Given the description of an element on the screen output the (x, y) to click on. 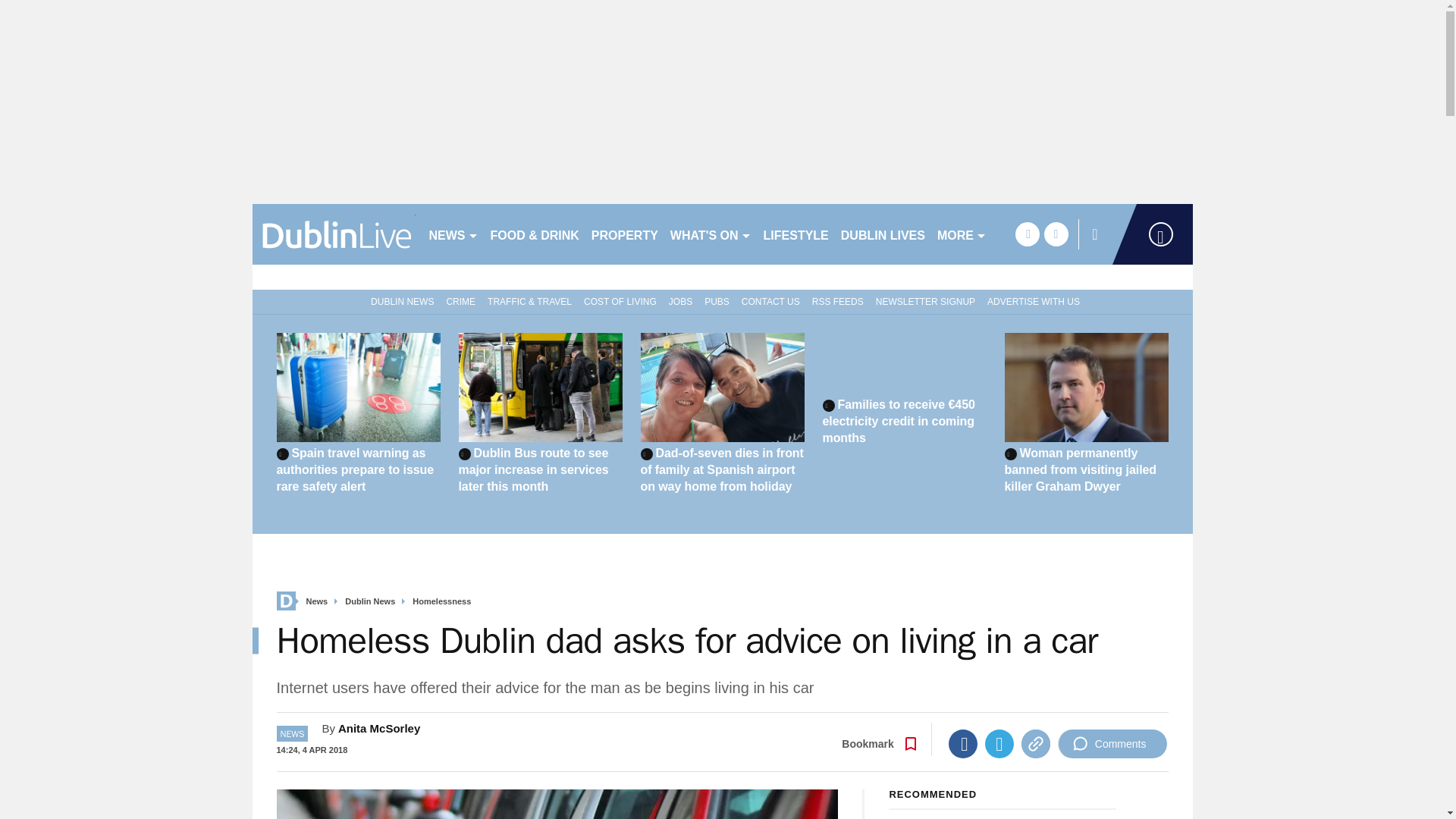
Comments (1112, 743)
dublinlive (332, 233)
WHAT'S ON (710, 233)
twitter (1055, 233)
Facebook (962, 743)
DUBLIN LIVES (882, 233)
NEWS (453, 233)
facebook (1026, 233)
LIFESTYLE (795, 233)
PROPERTY (624, 233)
